Given the description of an element on the screen output the (x, y) to click on. 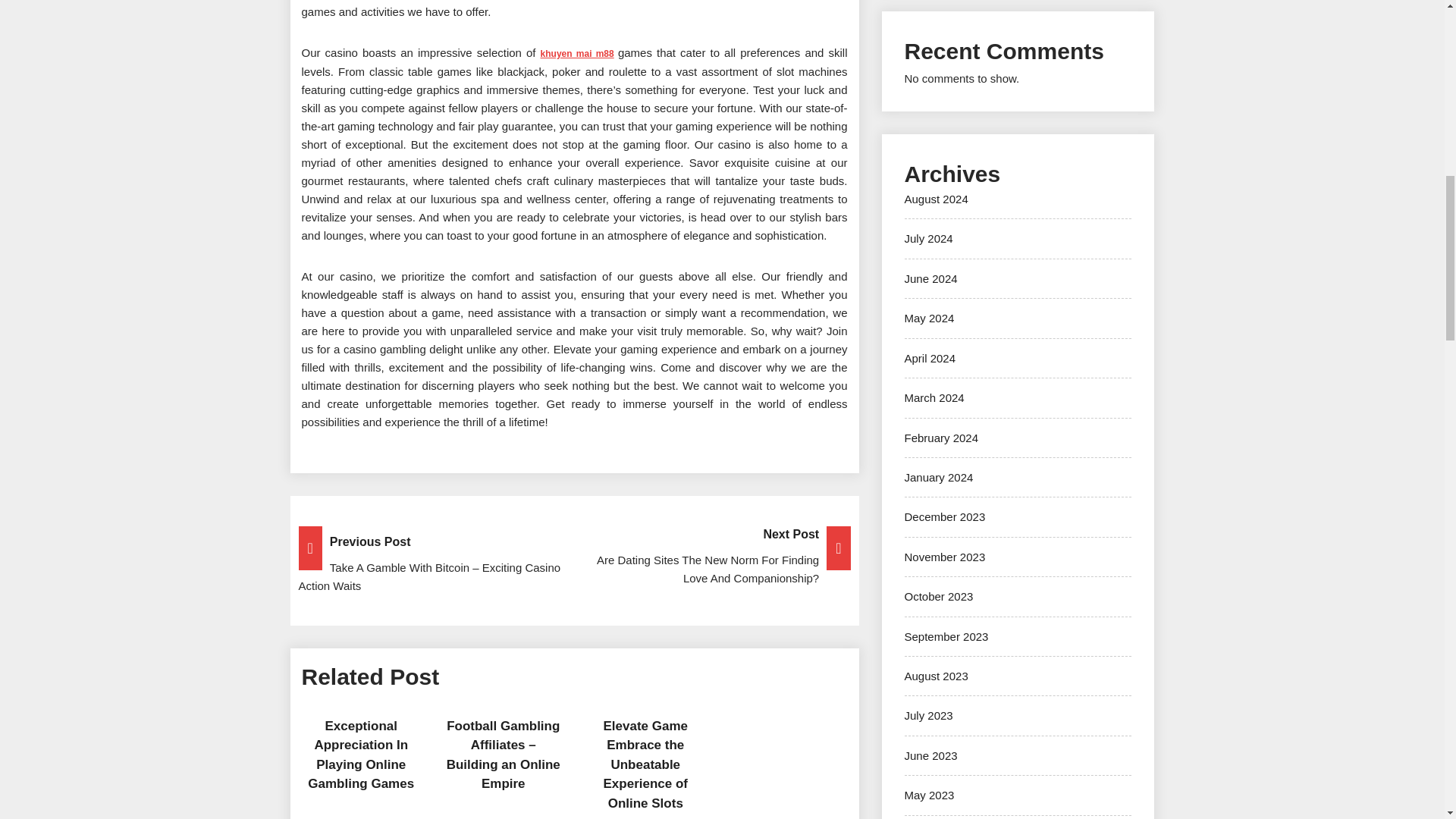
July 2024 (928, 237)
khuyen mai m88 (577, 53)
Exceptional Appreciation In Playing Online Gambling Games (360, 755)
February 2024 (941, 436)
April 2024 (929, 358)
June 2024 (930, 278)
May 2024 (928, 318)
August 2024 (936, 198)
March 2024 (933, 397)
